Given the description of an element on the screen output the (x, y) to click on. 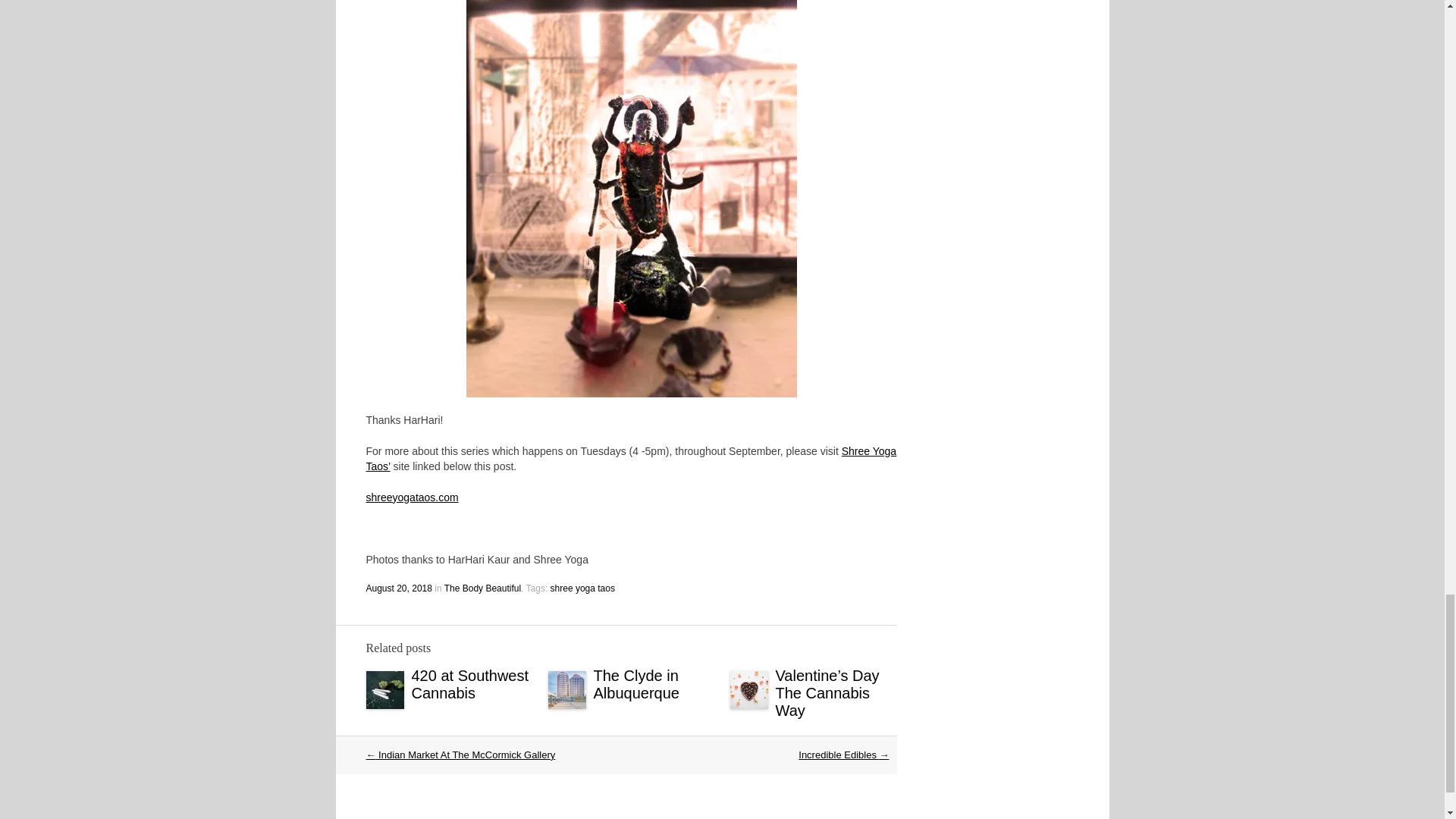
August 20, 2018 (397, 588)
Permalink to 420 at Southwest Cannabis (469, 683)
shreeyogataos.com (411, 496)
shree yoga taos (582, 588)
The Body Beautiful (482, 588)
Permalink to The Clyde in Albuquerque (635, 683)
420 at Southwest Cannabis (469, 683)
The Clyde in Albuquerque (635, 683)
